Given the description of an element on the screen output the (x, y) to click on. 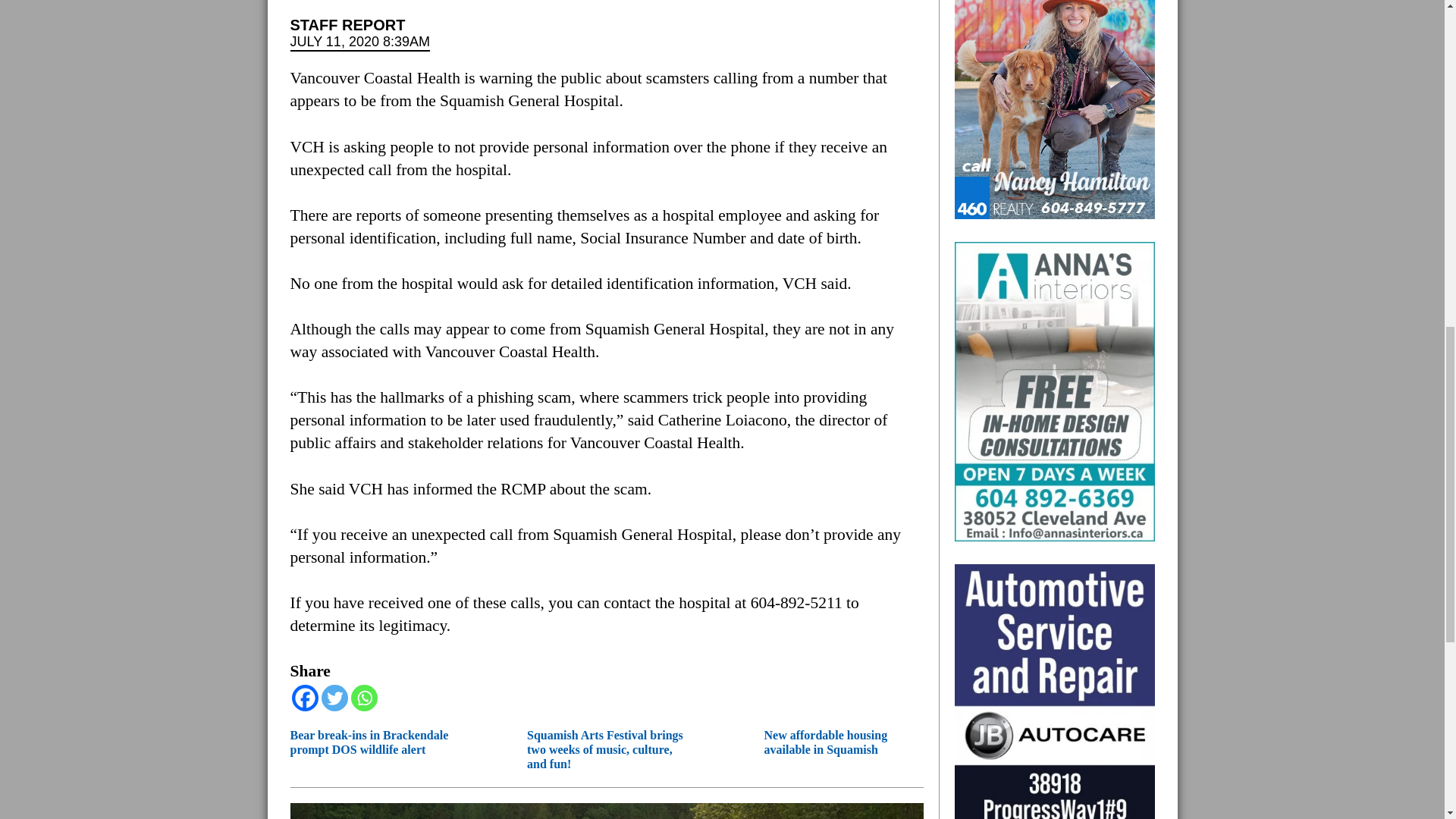
Whatsapp (363, 697)
Twitter (334, 697)
Facebook (304, 697)
